Given the description of an element on the screen output the (x, y) to click on. 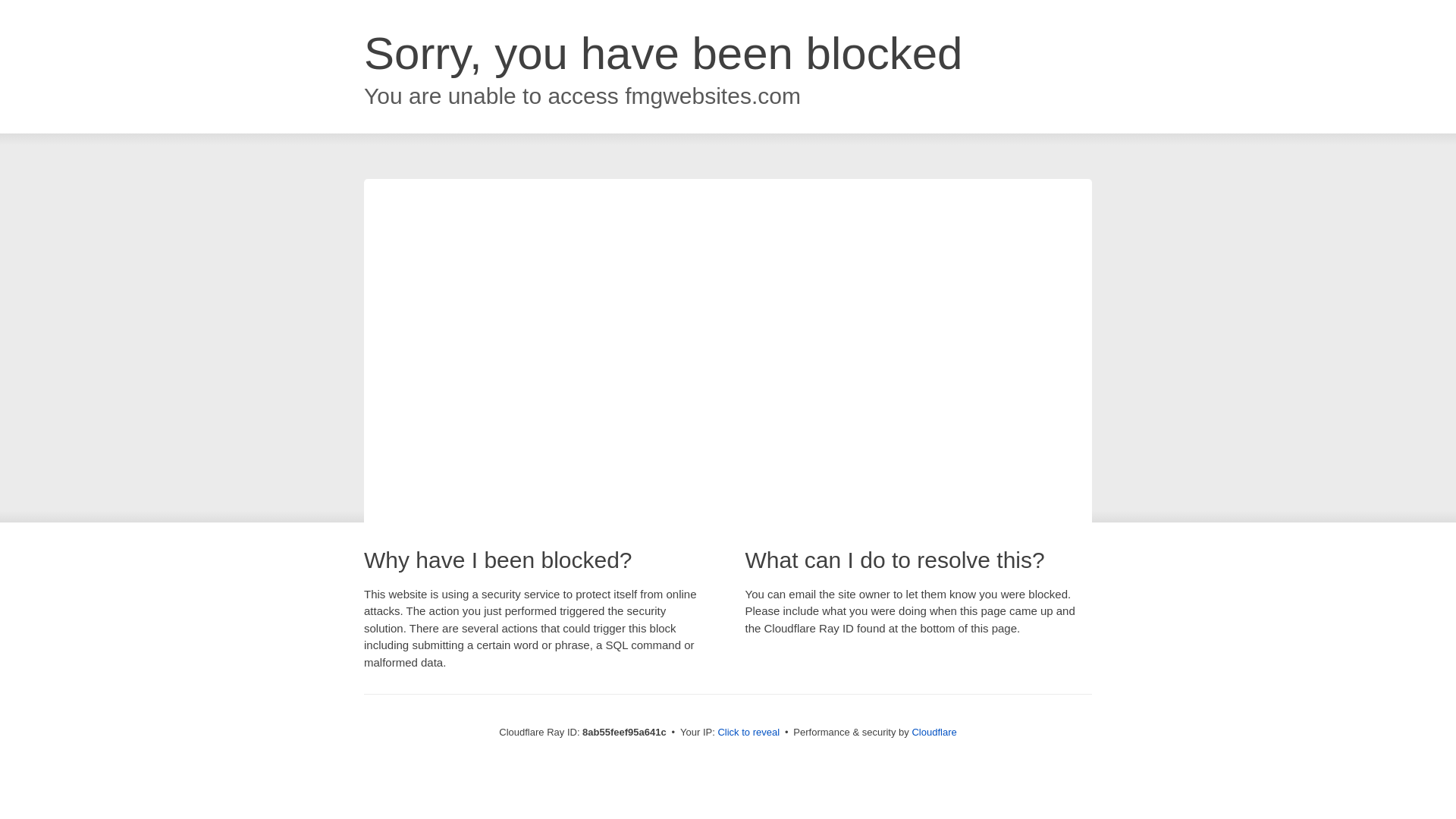
Cloudflare (933, 731)
Click to reveal (747, 732)
